Given the description of an element on the screen output the (x, y) to click on. 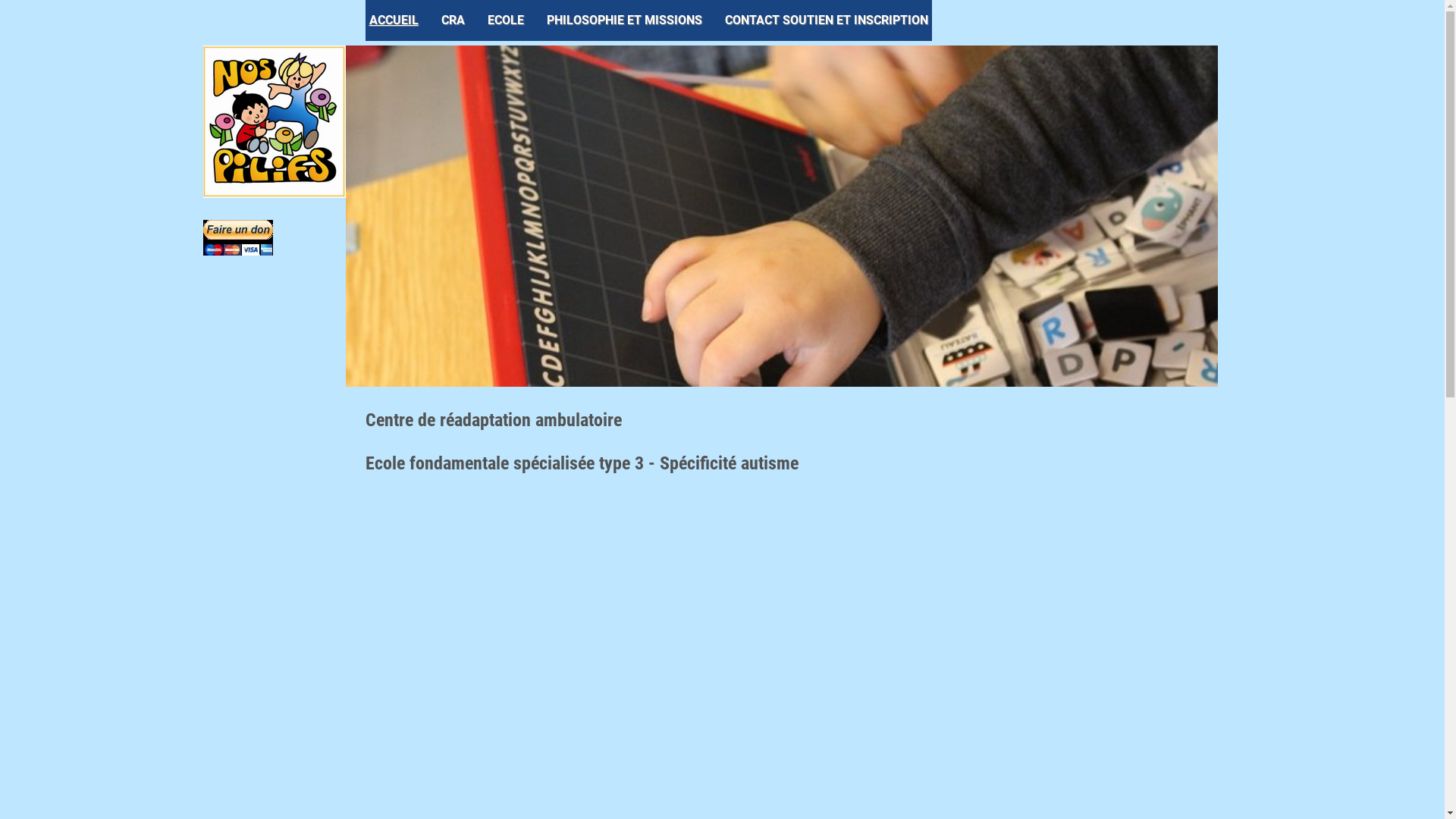
ACCUEIL Element type: text (393, 20)
ECOLE Element type: text (505, 20)
CRA Element type: text (451, 20)
CONTACT SOUTIEN ET INSCRIPTION Element type: text (825, 20)
PHILOSOPHIE ET MISSIONS Element type: text (624, 20)
